Given the description of an element on the screen output the (x, y) to click on. 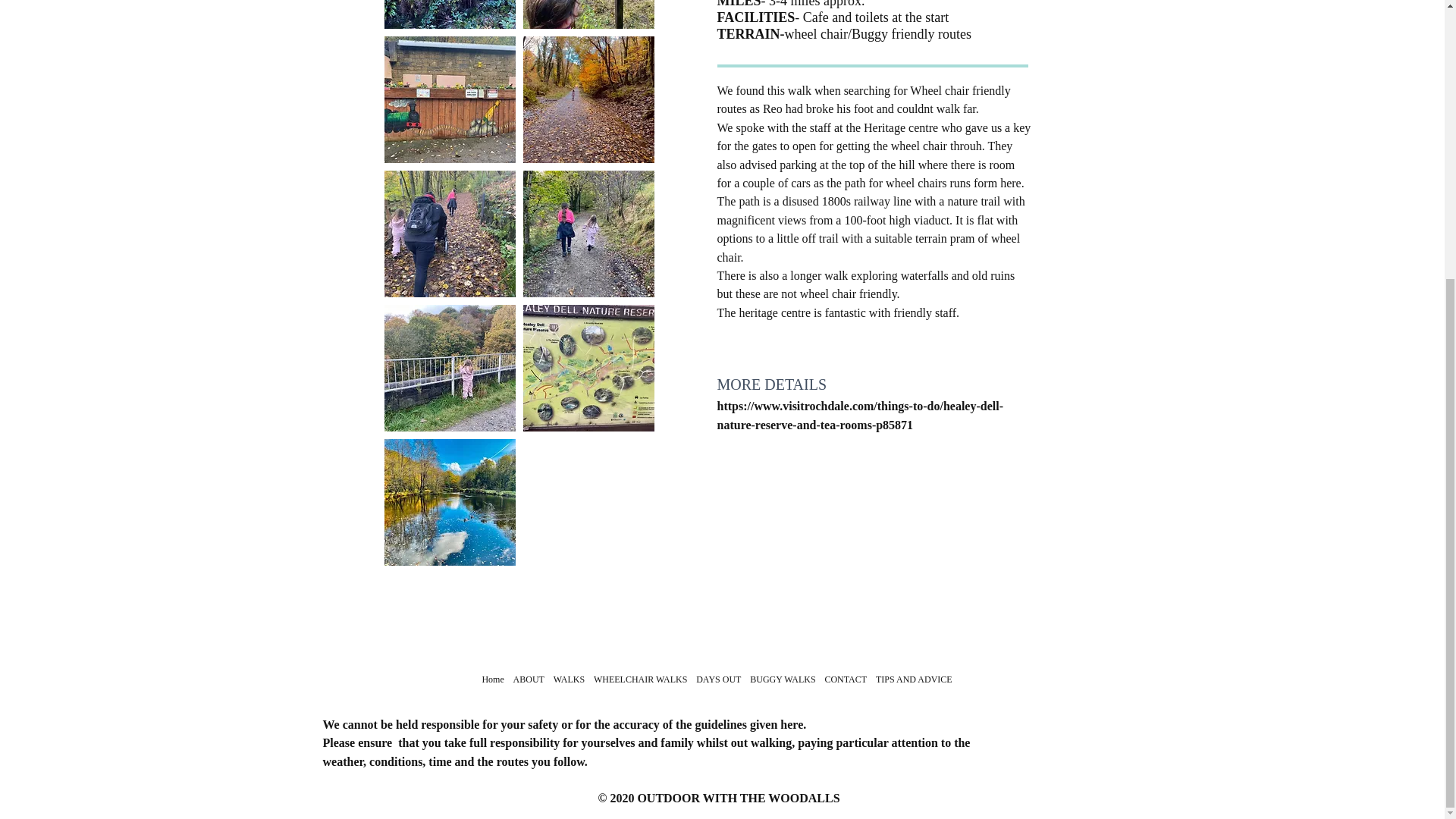
ABOUT (528, 679)
Home (492, 679)
WALKS (568, 679)
